Given the description of an element on the screen output the (x, y) to click on. 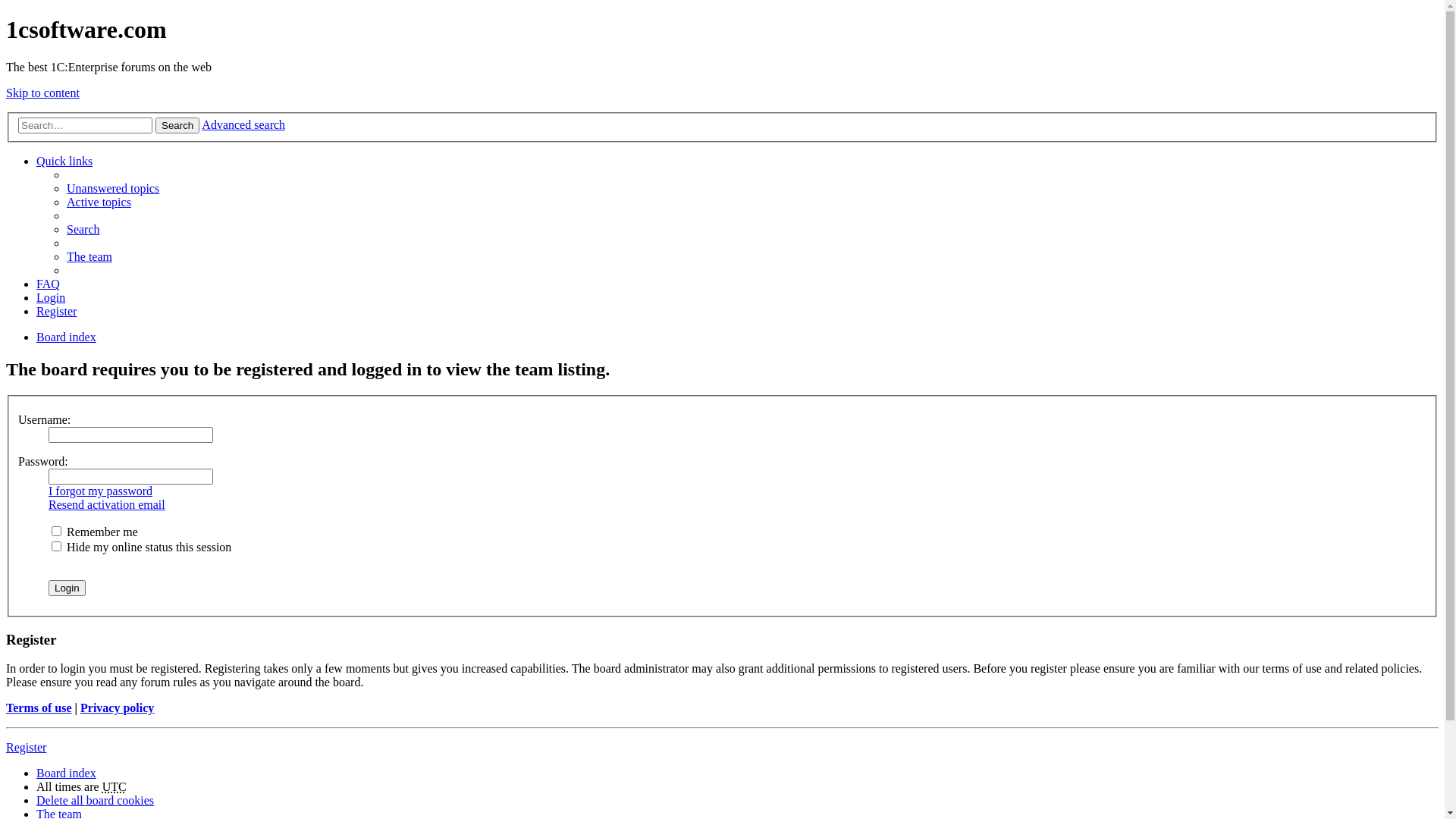
Advanced search Element type: text (243, 124)
Board index Element type: text (66, 336)
Board index Element type: text (66, 772)
Skip to content Element type: text (42, 92)
Search Element type: text (83, 228)
Search for keywords Element type: hover (85, 125)
Login Element type: text (50, 297)
I forgot my password Element type: text (100, 490)
Unanswered topics Element type: text (112, 188)
The team Element type: text (89, 256)
FAQ Element type: text (47, 283)
Active topics Element type: text (98, 201)
Terms of use Element type: text (39, 707)
Register Element type: text (26, 746)
Privacy policy Element type: text (116, 707)
Resend activation email Element type: text (106, 504)
Register Element type: text (56, 310)
Quick links Element type: text (64, 160)
Delete all board cookies Element type: text (94, 799)
Login Element type: text (66, 588)
Search Element type: text (177, 125)
